Given the description of an element on the screen output the (x, y) to click on. 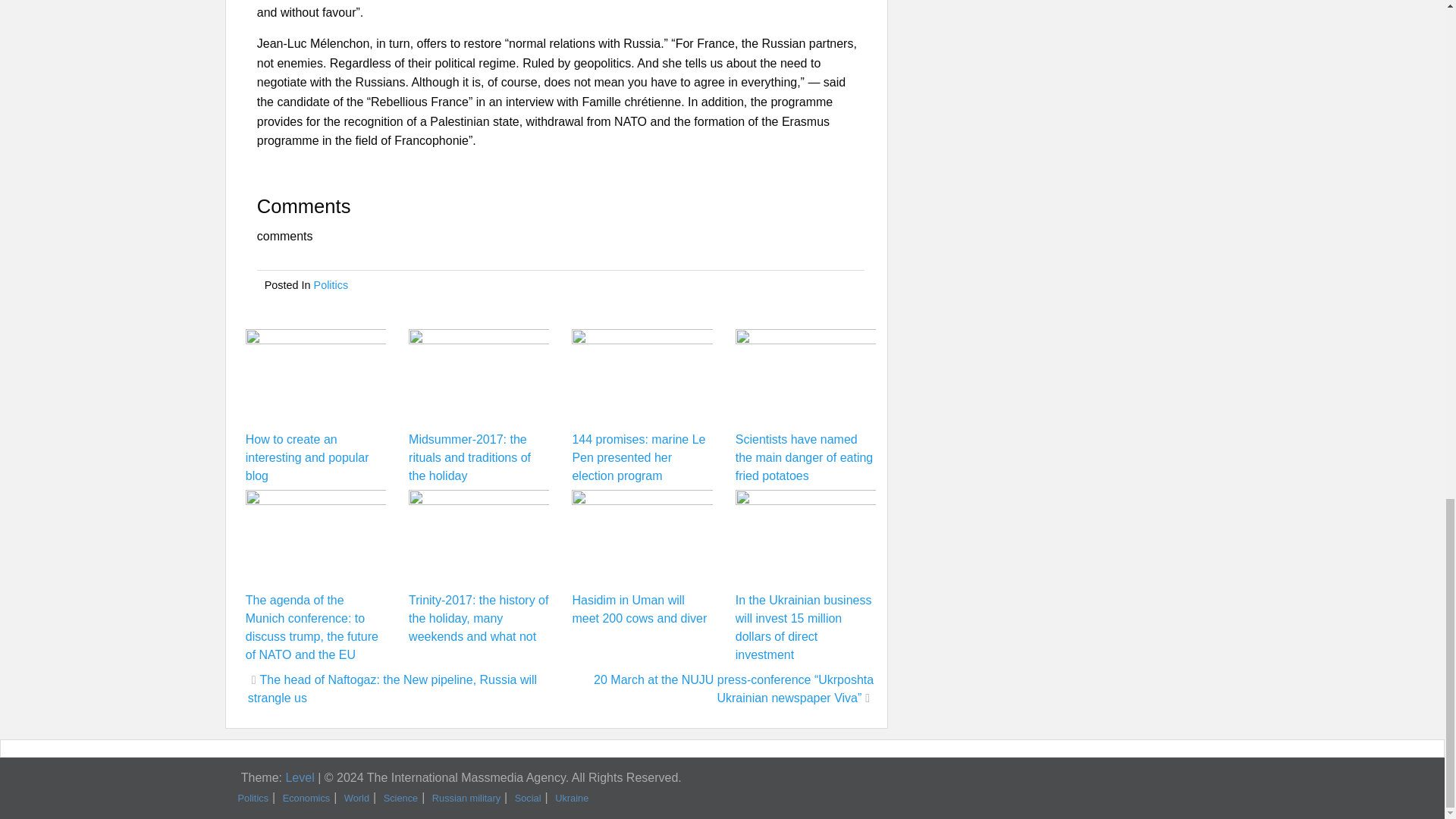
How to create an interesting and popular blog (307, 457)
How to create an interesting and popular blog (307, 457)
144 promises: marine Le Pen presented her election program (638, 457)
Midsummer-2017: the rituals and traditions of the holiday (470, 457)
Midsummer-2017: the rituals and traditions of the holiday (470, 457)
Politics (331, 285)
144 promises: marine Le Pen presented her election program (638, 457)
